Given the description of an element on the screen output the (x, y) to click on. 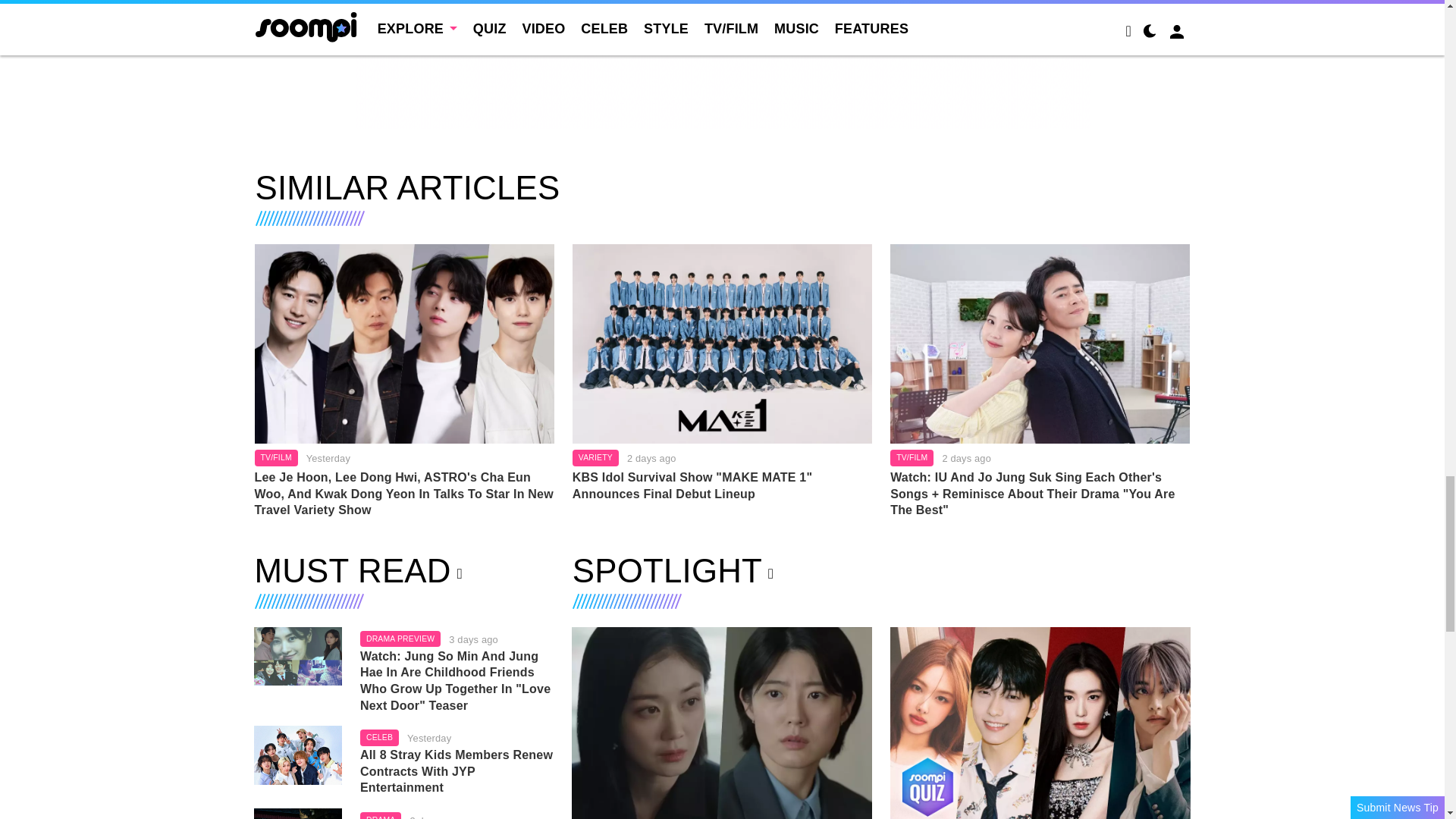
3rd party ad content (722, 64)
